Given the description of an element on the screen output the (x, y) to click on. 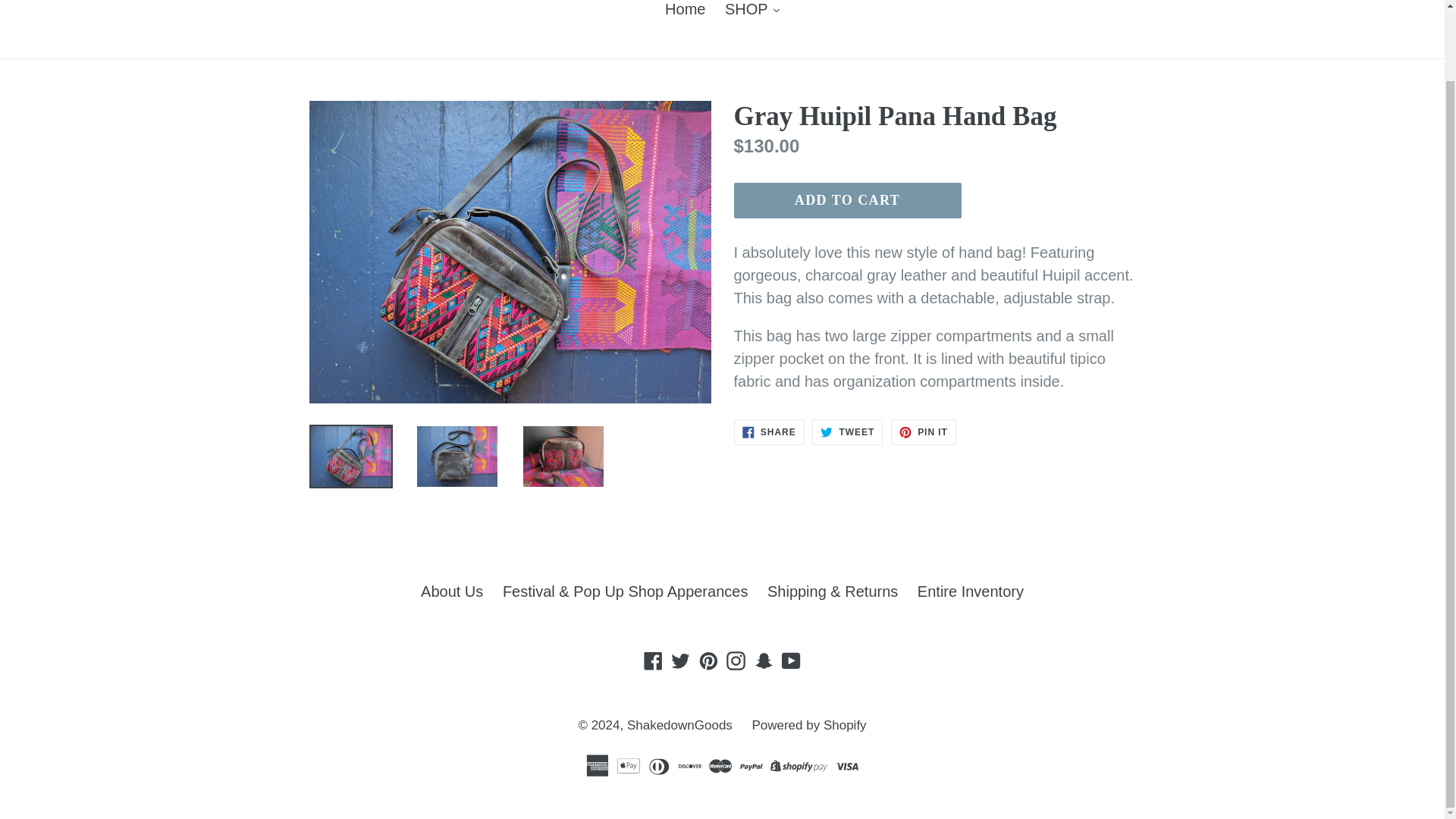
ShakedownGoods on Instagram (735, 659)
ShakedownGoods on Snapchat (764, 659)
Home (685, 11)
ShakedownGoods on YouTube (790, 659)
Share on Facebook (769, 432)
ShakedownGoods on Pinterest (708, 659)
Tweet on Twitter (847, 432)
ShakedownGoods on Twitter (680, 659)
Pin on Pinterest (923, 432)
ShakedownGoods on Facebook (653, 659)
